Given the description of an element on the screen output the (x, y) to click on. 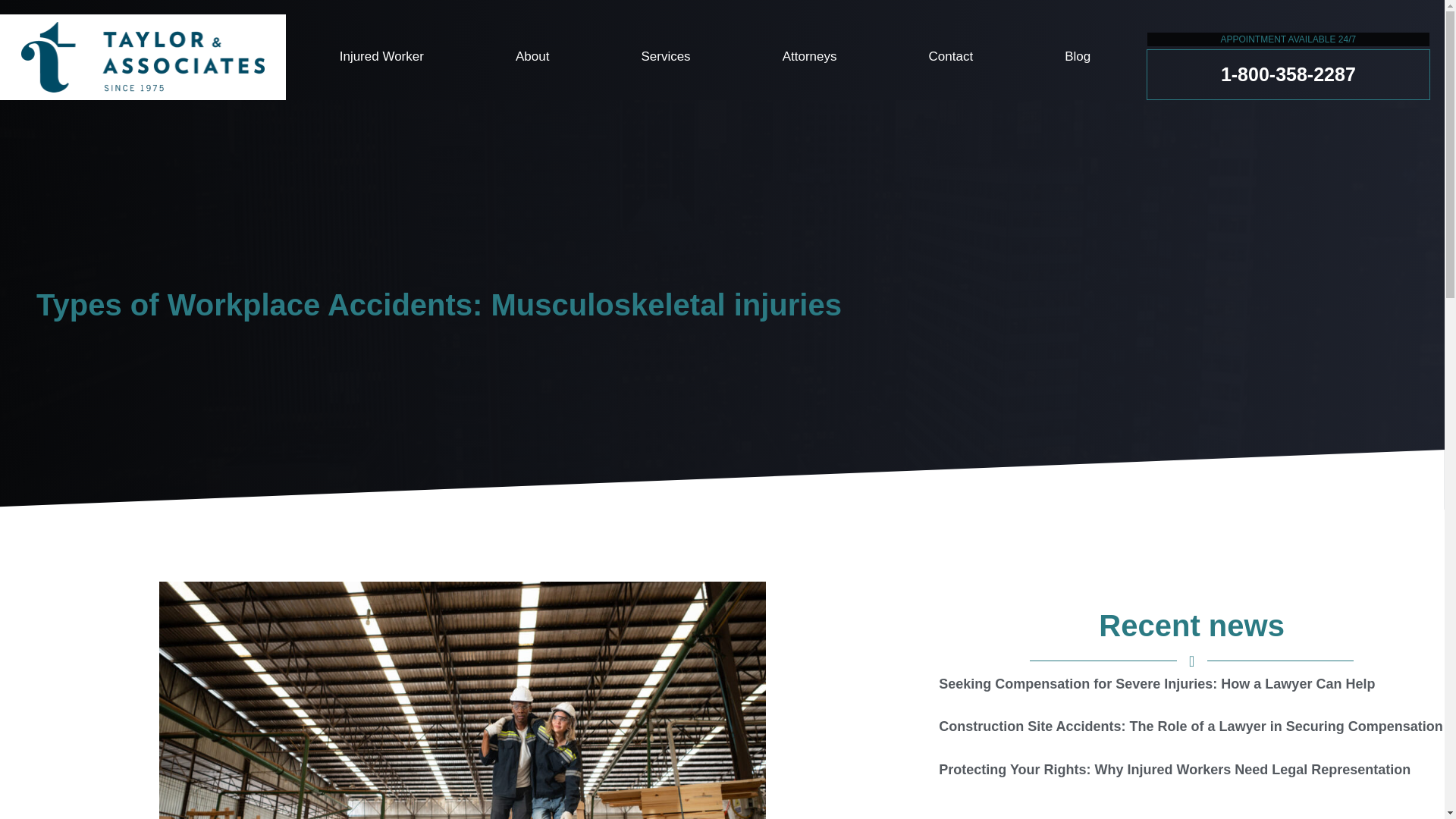
1-800-358-2287 (1288, 74)
Services (665, 56)
Injured Worker (381, 56)
Blog (1078, 56)
About (531, 56)
Attorneys (809, 56)
Contact (950, 56)
